Given the description of an element on the screen output the (x, y) to click on. 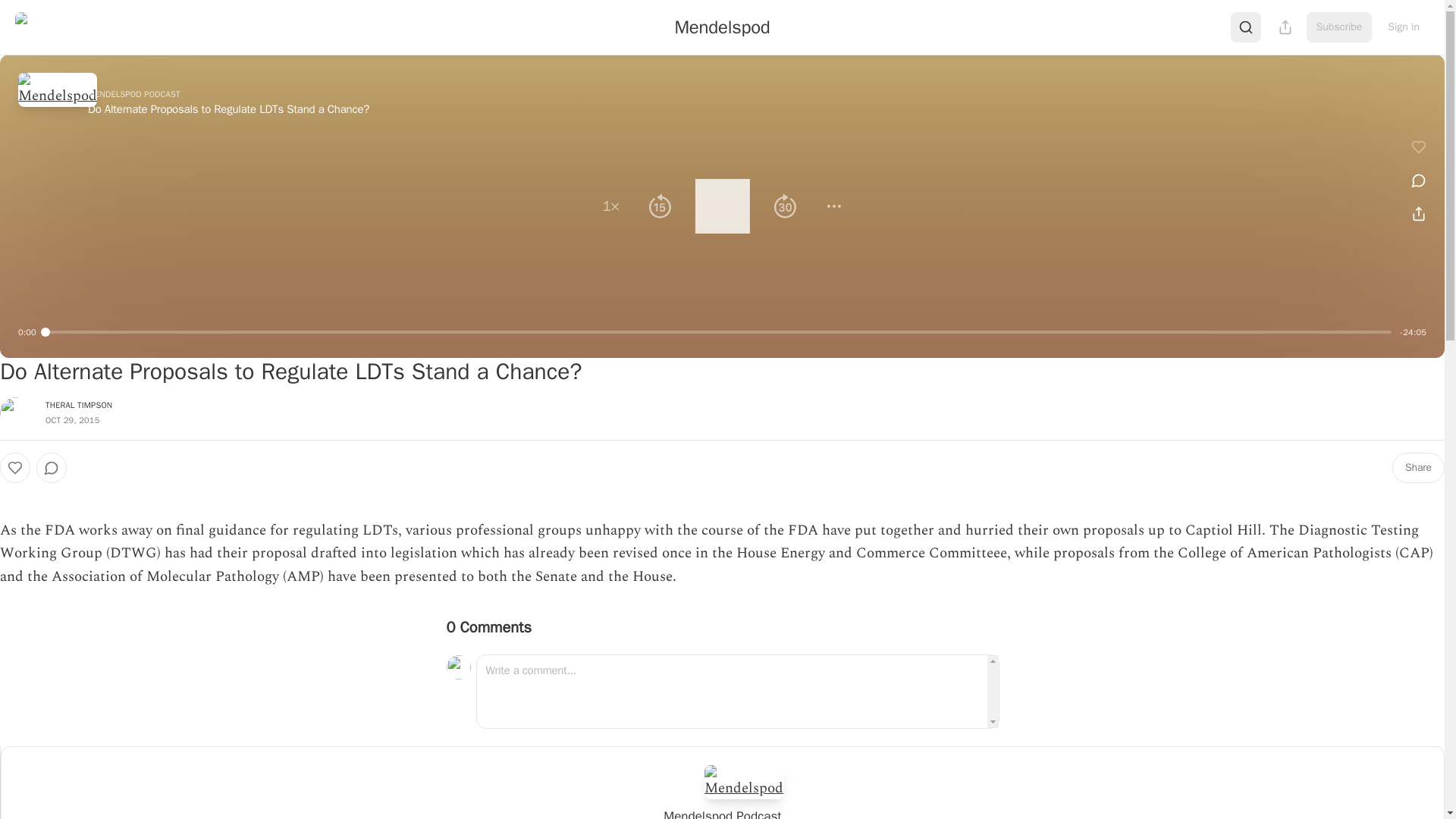
Mendelspod (722, 26)
Sign in (1403, 27)
Share (1417, 467)
Subscribe (1339, 27)
THERAL TIMPSON (78, 404)
